Given the description of an element on the screen output the (x, y) to click on. 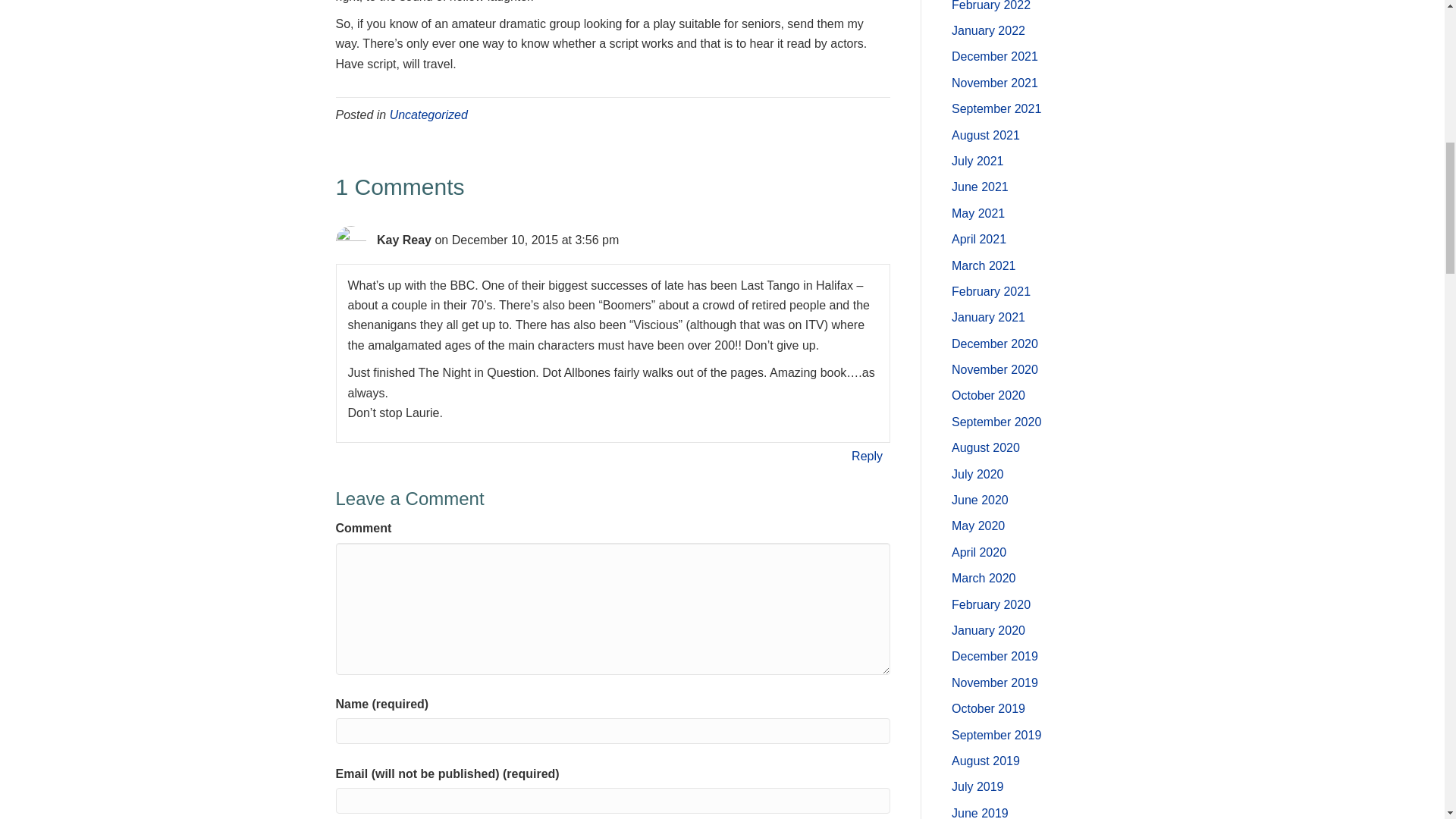
February 2022 (991, 5)
Reply (866, 455)
December 2021 (995, 56)
January 2022 (988, 30)
Uncategorized (428, 114)
